Given the description of an element on the screen output the (x, y) to click on. 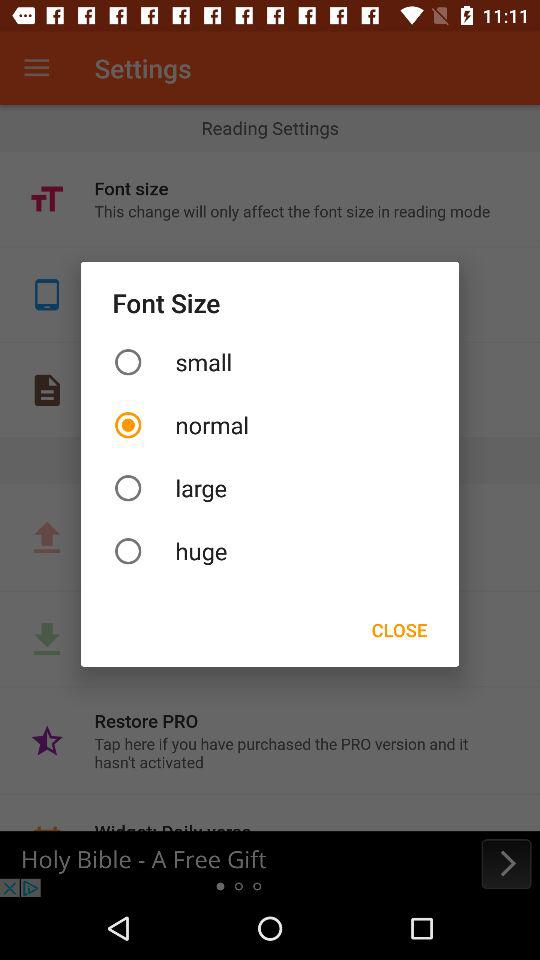
press close on the right (399, 629)
